Given the description of an element on the screen output the (x, y) to click on. 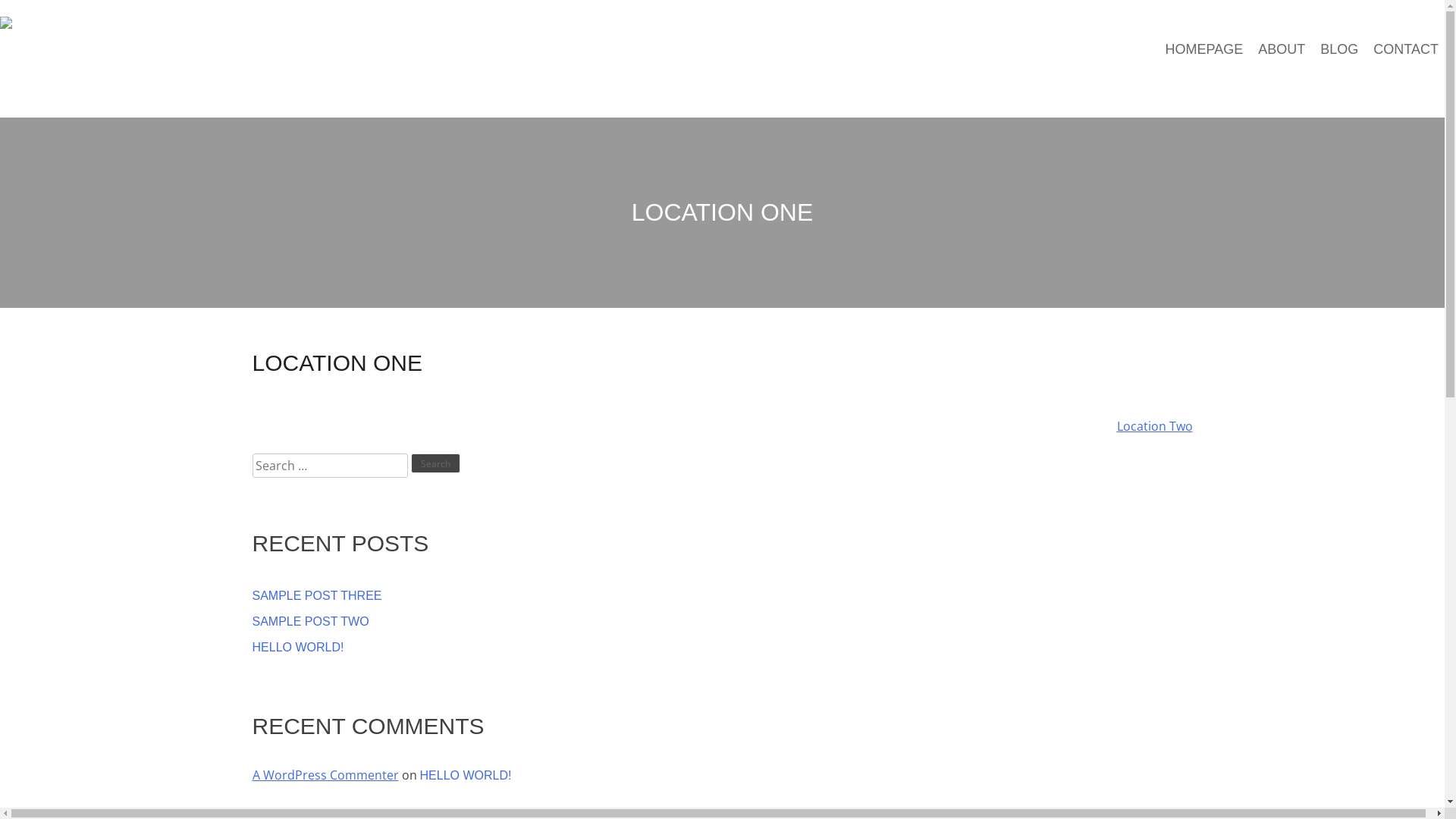
HOMEPAGE Element type: text (1204, 49)
ABOUT Element type: text (1281, 49)
A WordPress Commenter Element type: text (324, 774)
CONTACT Element type: text (1405, 49)
HELLO WORLD! Element type: text (721, 647)
Search Element type: text (435, 463)
Location Two Element type: text (1154, 425)
SAMPLE POST THREE Element type: text (721, 595)
SAMPLE POST TWO Element type: text (721, 621)
BLOG Element type: text (1339, 49)
HELLO WORLD! Element type: text (465, 774)
